Given the description of an element on the screen output the (x, y) to click on. 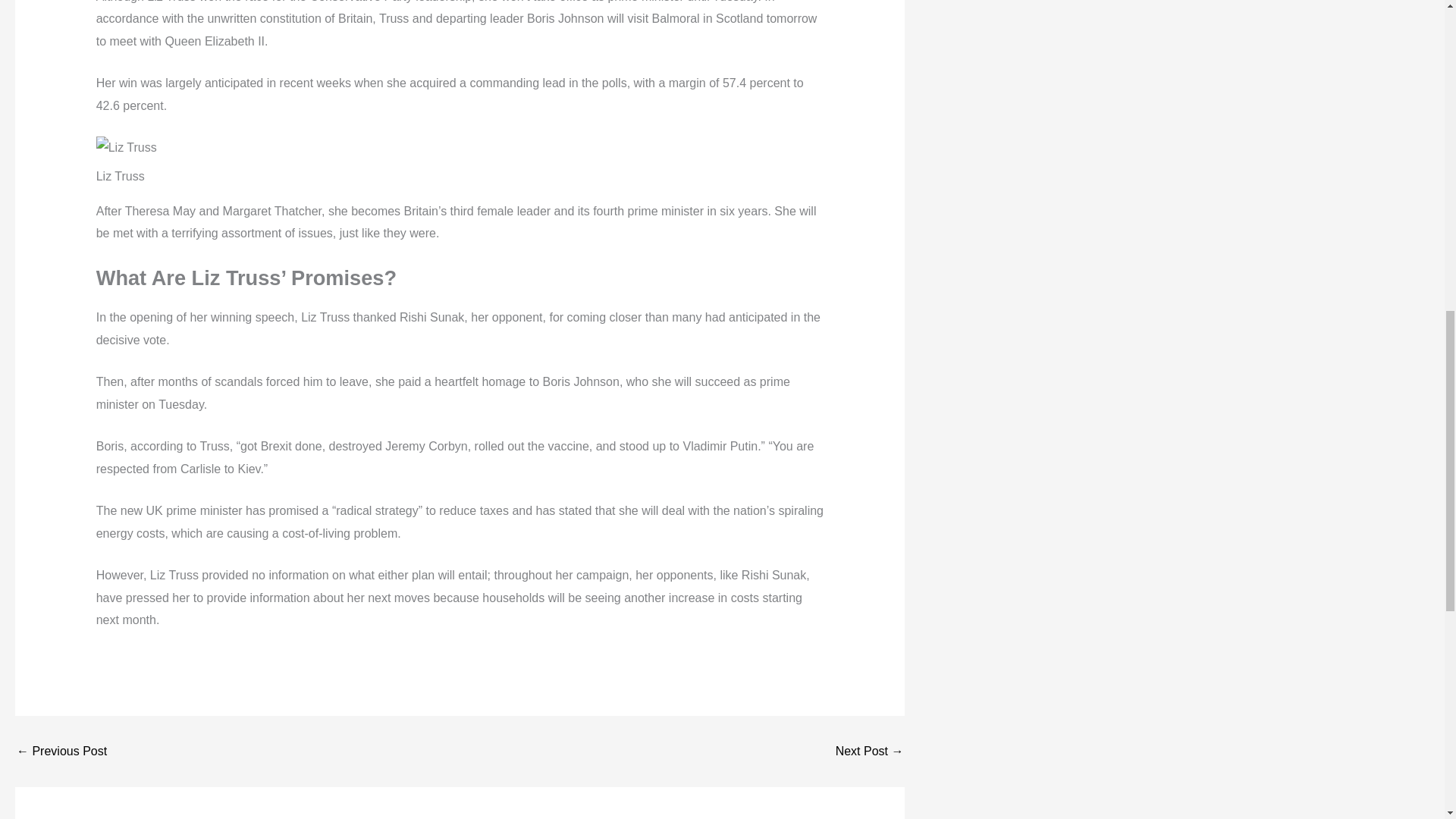
Liz Truss Ethnicity: What Nationality is Liz Truss? (61, 751)
Liz Truss Family, Parents, Husband, Children, Siblings (869, 751)
